Given the description of an element on the screen output the (x, y) to click on. 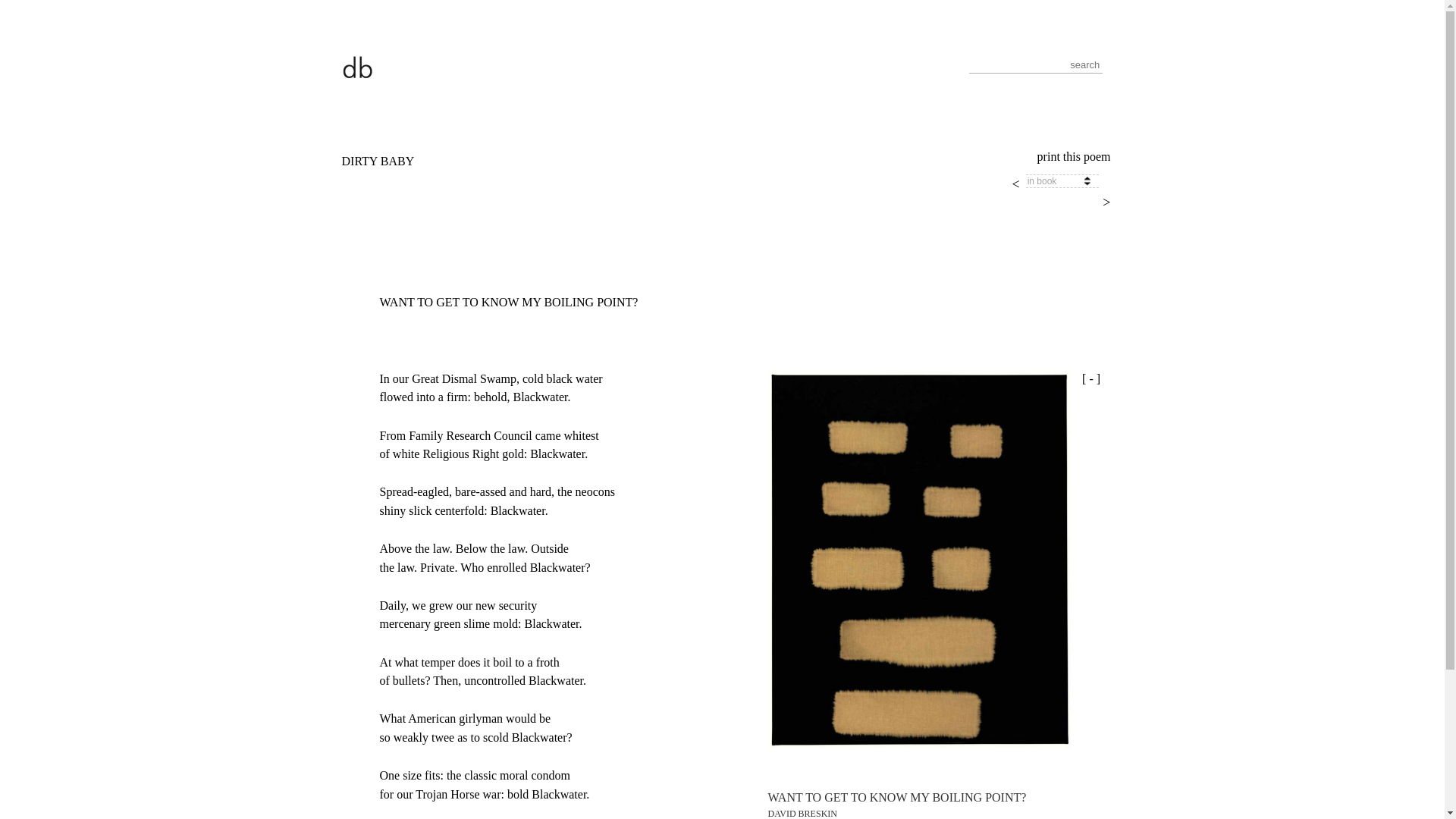
print this poem (1073, 155)
search (21, 9)
David Breskin (357, 66)
Dirty Baby (376, 160)
DIRTY BABY (376, 160)
